Given the description of an element on the screen output the (x, y) to click on. 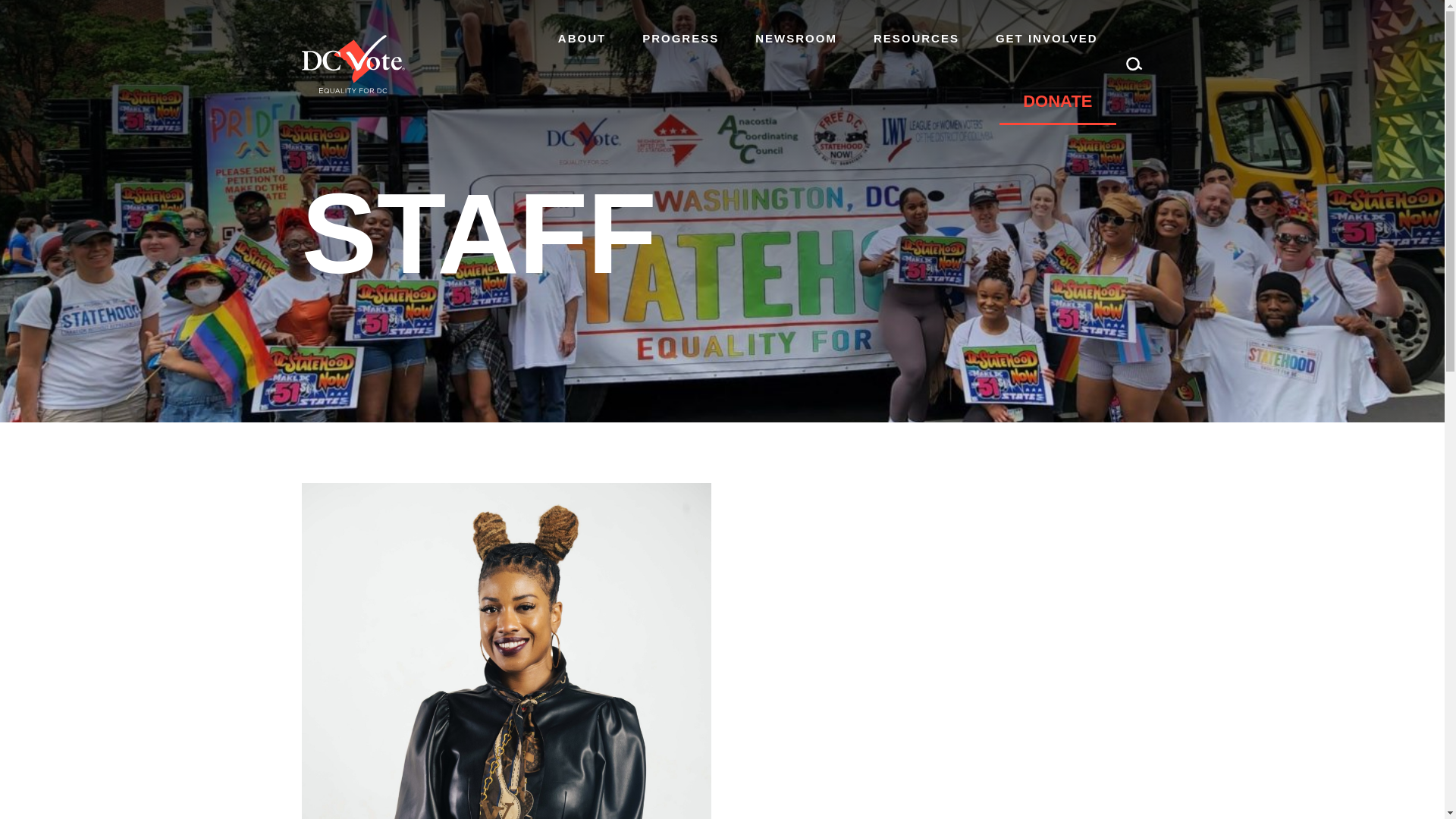
Progress (680, 38)
Resources (916, 38)
DONATE (1056, 102)
GET INVOLVED (1046, 38)
PROGRESS (680, 38)
search (1133, 63)
NEWSROOM (796, 38)
RESOURCES (916, 38)
Newsroom (796, 38)
